Given the description of an element on the screen output the (x, y) to click on. 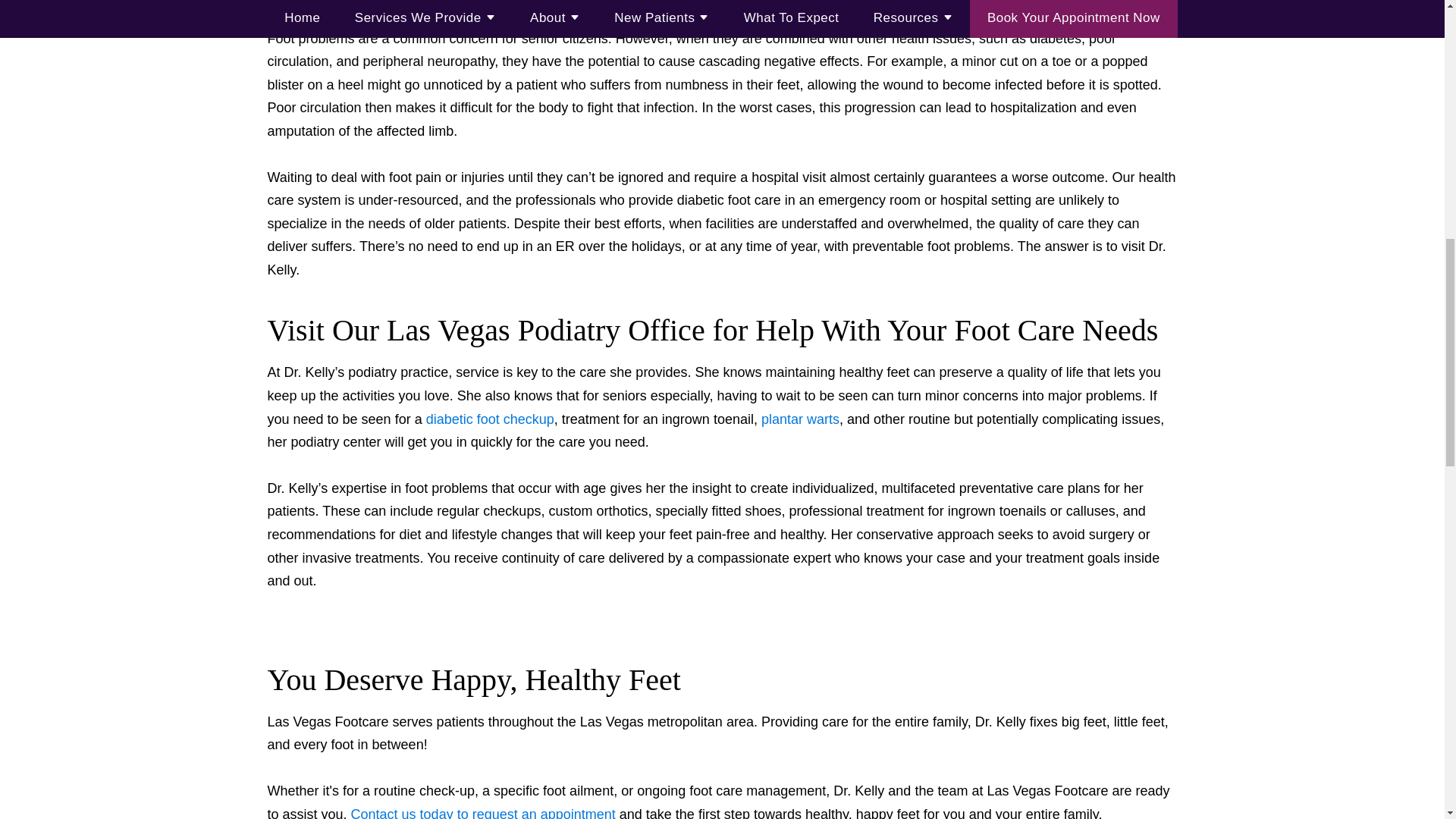
Contact us today to request an appointment (482, 812)
diabetic foot checkup (490, 418)
plantar warts (800, 418)
